Given the description of an element on the screen output the (x, y) to click on. 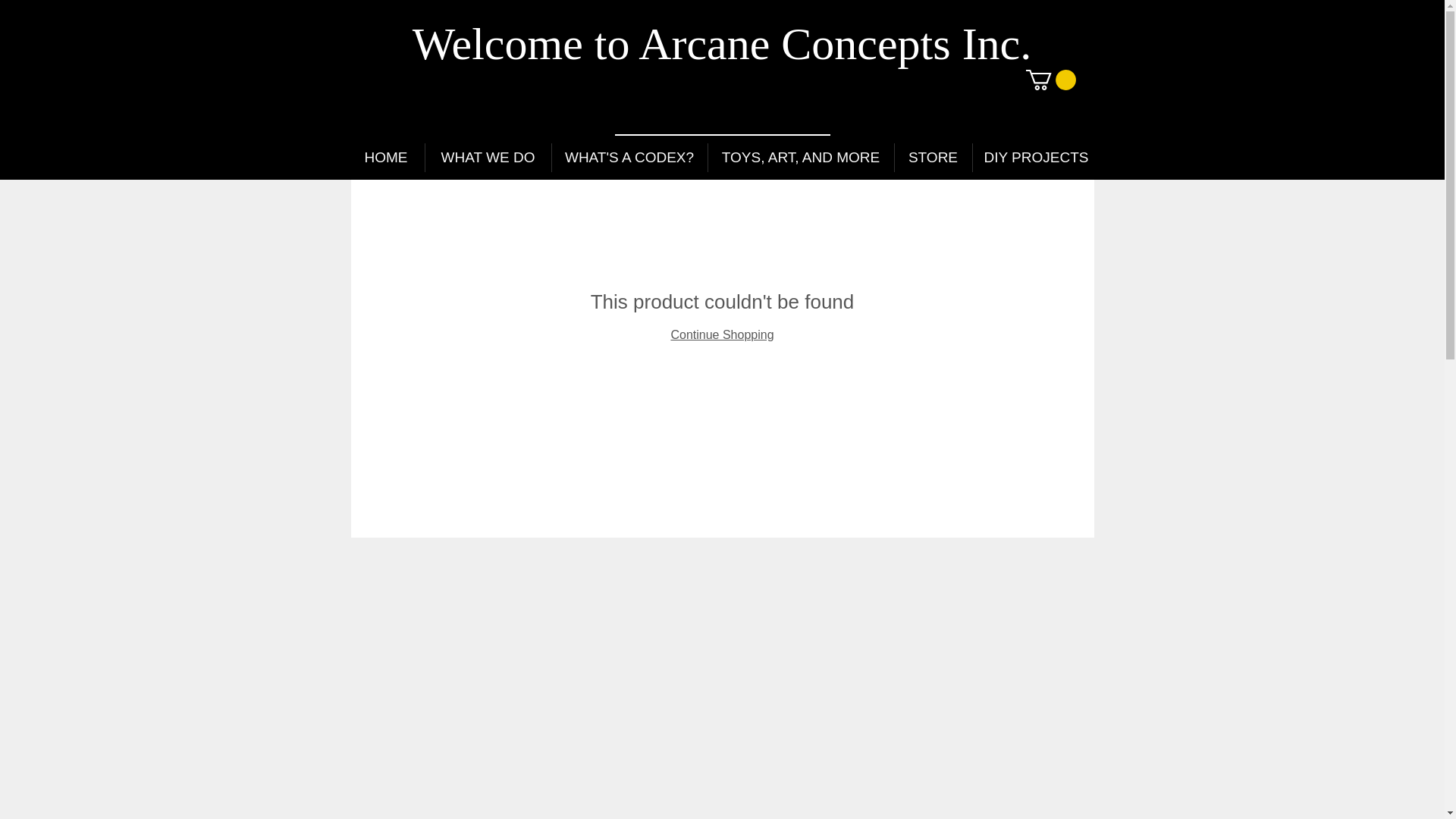
WHAT WE DO (487, 157)
Continue Shopping (721, 334)
TOYS, ART, AND MORE (800, 157)
WHAT'S A CODEX? (629, 157)
Welcome to Arcane Concepts Inc. (722, 43)
HOME (385, 157)
STORE (933, 157)
